Given the description of an element on the screen output the (x, y) to click on. 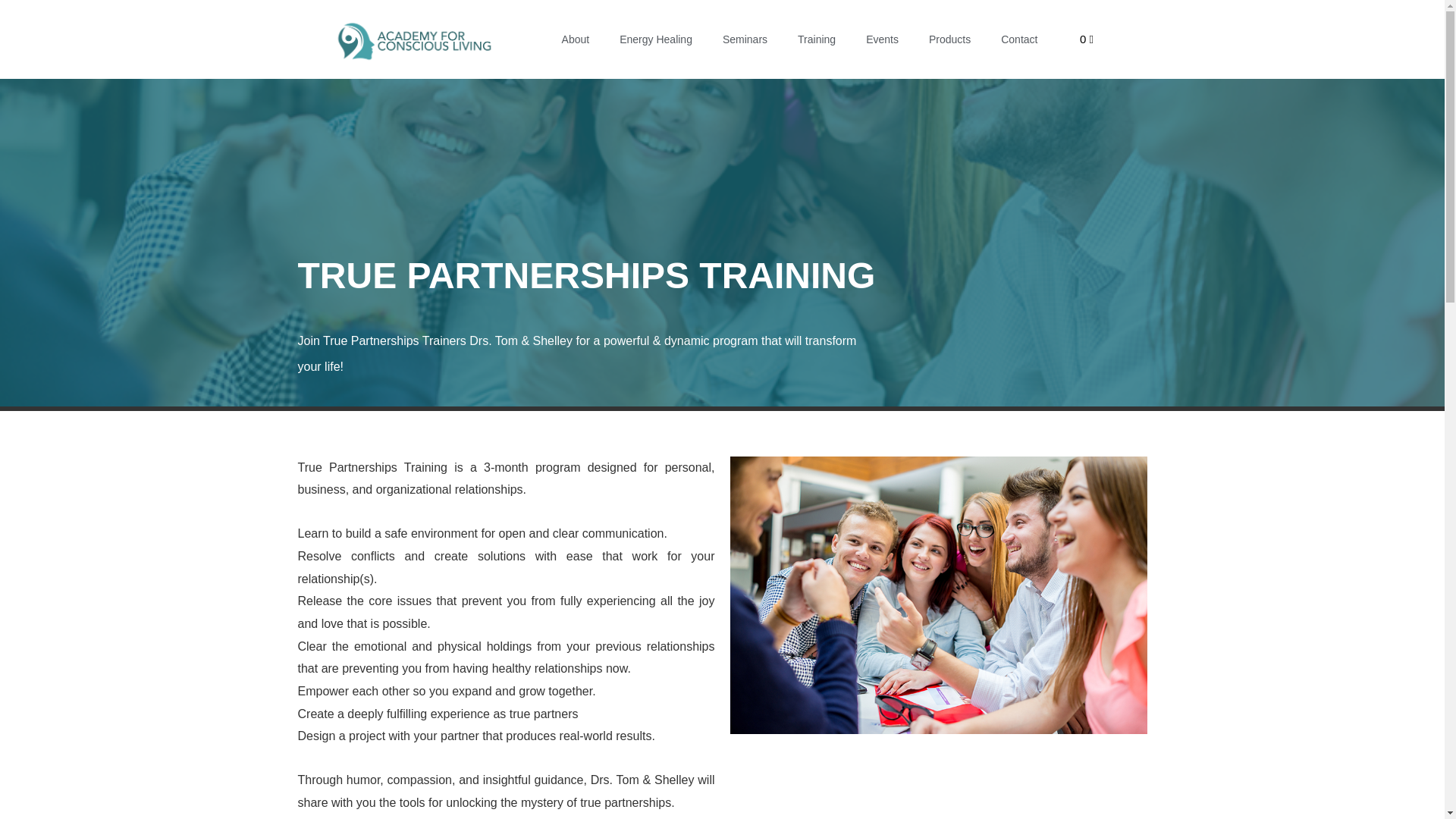
Events (882, 39)
Energy Healing (655, 39)
About (576, 39)
0 (1086, 38)
Products (949, 39)
Training (816, 39)
Contact (1018, 39)
Seminars (745, 39)
